Given the description of an element on the screen output the (x, y) to click on. 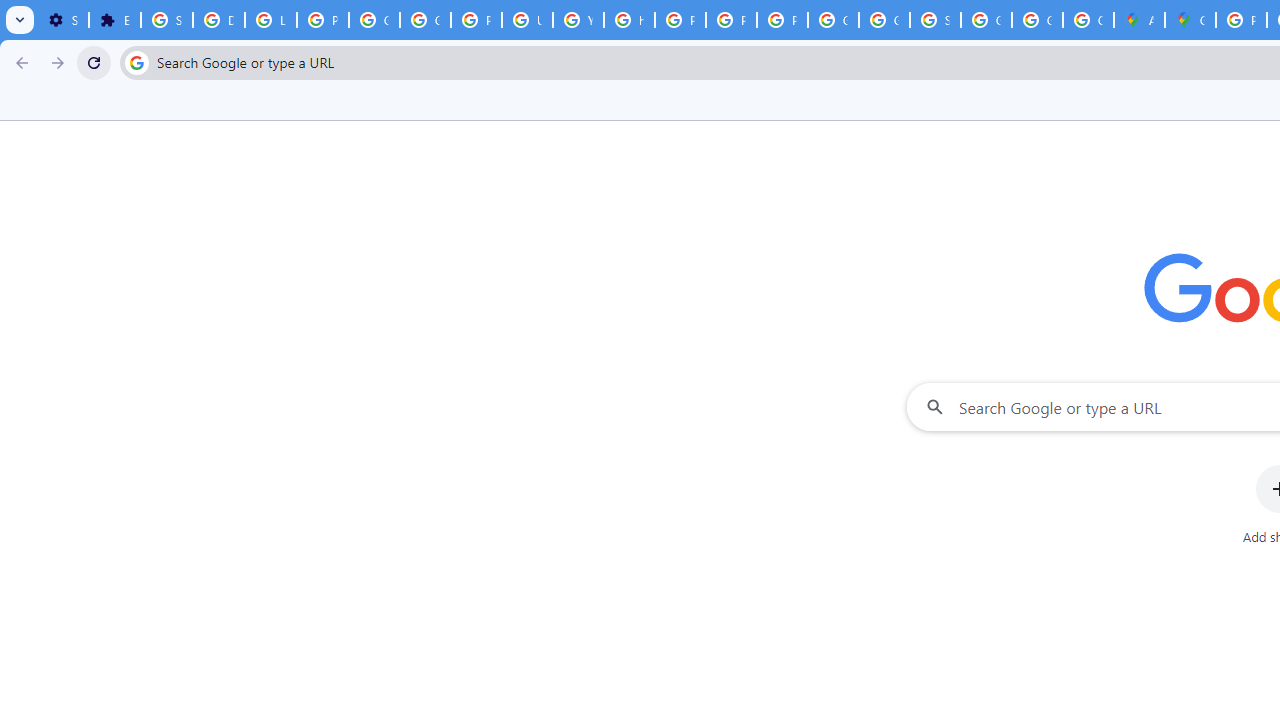
Privacy Help Center - Policies Help (680, 20)
Google Maps (1189, 20)
https://scholar.google.com/ (629, 20)
Sign in - Google Accounts (166, 20)
Policy Accountability and Transparency - Transparency Center (1241, 20)
Create your Google Account (1087, 20)
